Given the description of an element on the screen output the (x, y) to click on. 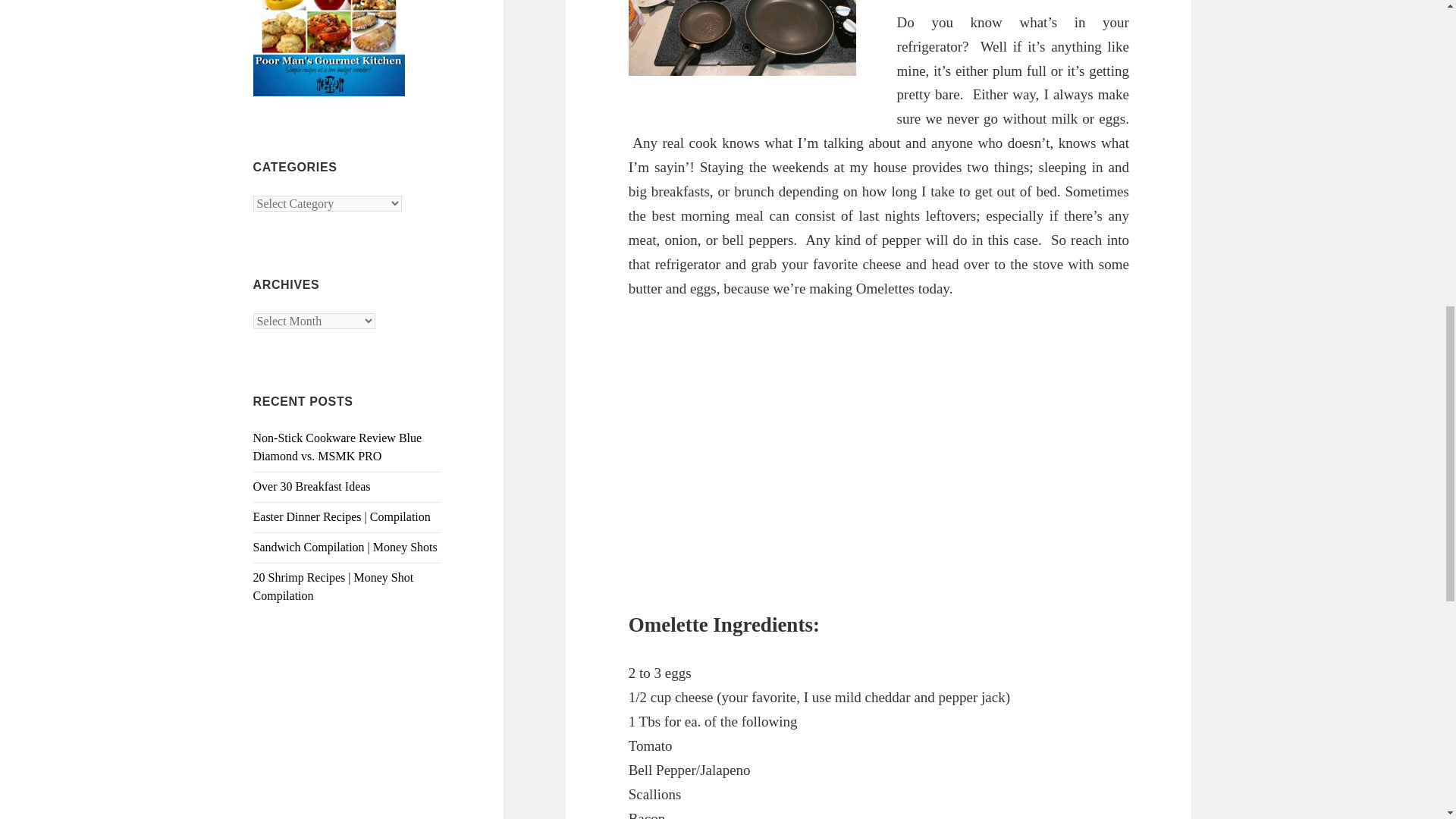
Non-Stick Cookware Review Blue Diamond vs. MSMK PRO (337, 446)
Over 30 Breakfast Ideas (312, 486)
